Given the description of an element on the screen output the (x, y) to click on. 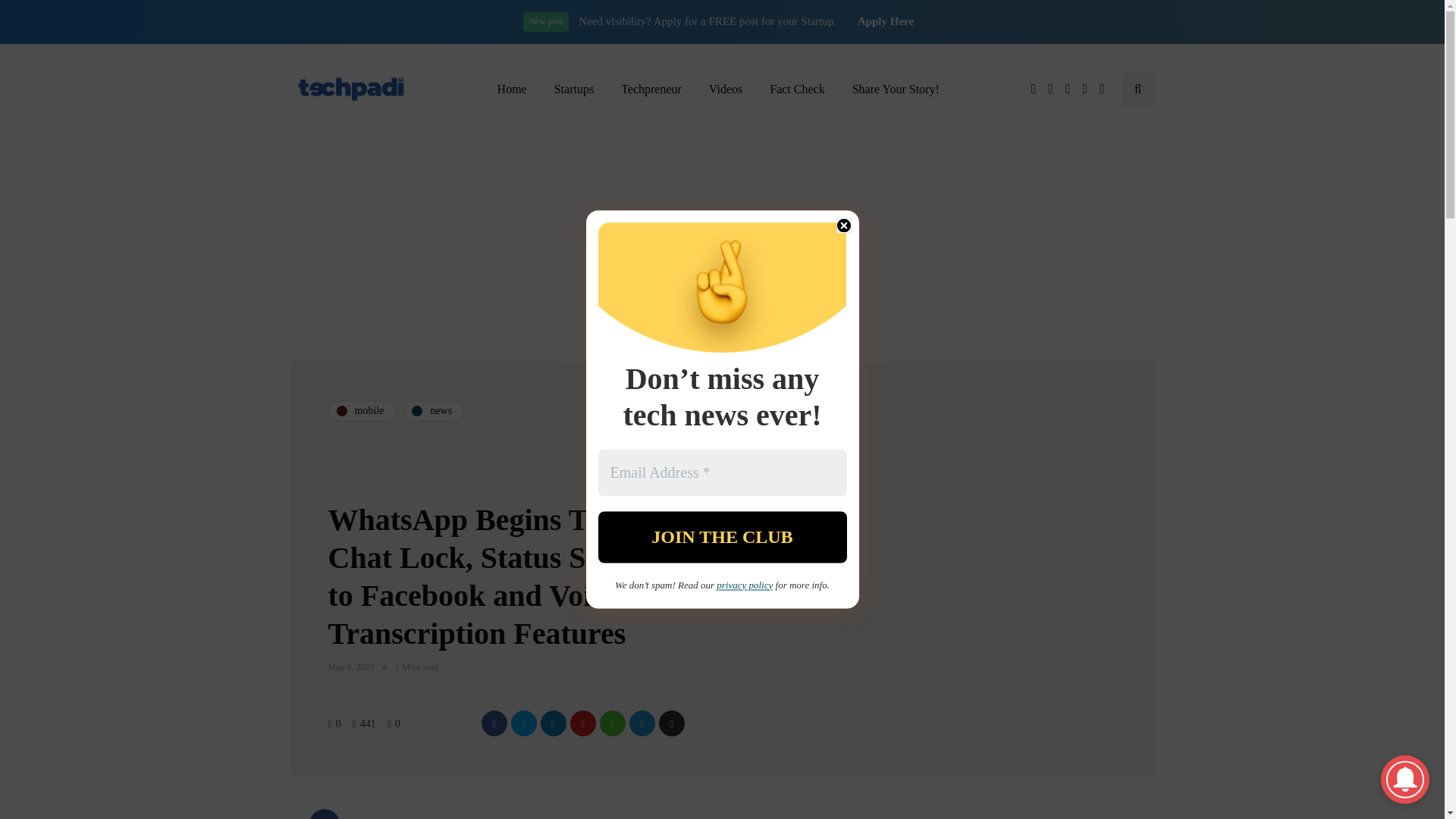
Fact Check (796, 89)
Share by Email (671, 723)
Share to WhatsApp (611, 723)
JOIN THE CLUB (720, 536)
Startups (573, 89)
Tweet this (524, 723)
Email Address (720, 472)
Videos (725, 89)
Techpreneur (651, 89)
Share Your Story! (895, 89)
Share with Facebook (493, 723)
Share with Facebook (323, 814)
mobile (361, 410)
Pin this (582, 723)
